Given the description of an element on the screen output the (x, y) to click on. 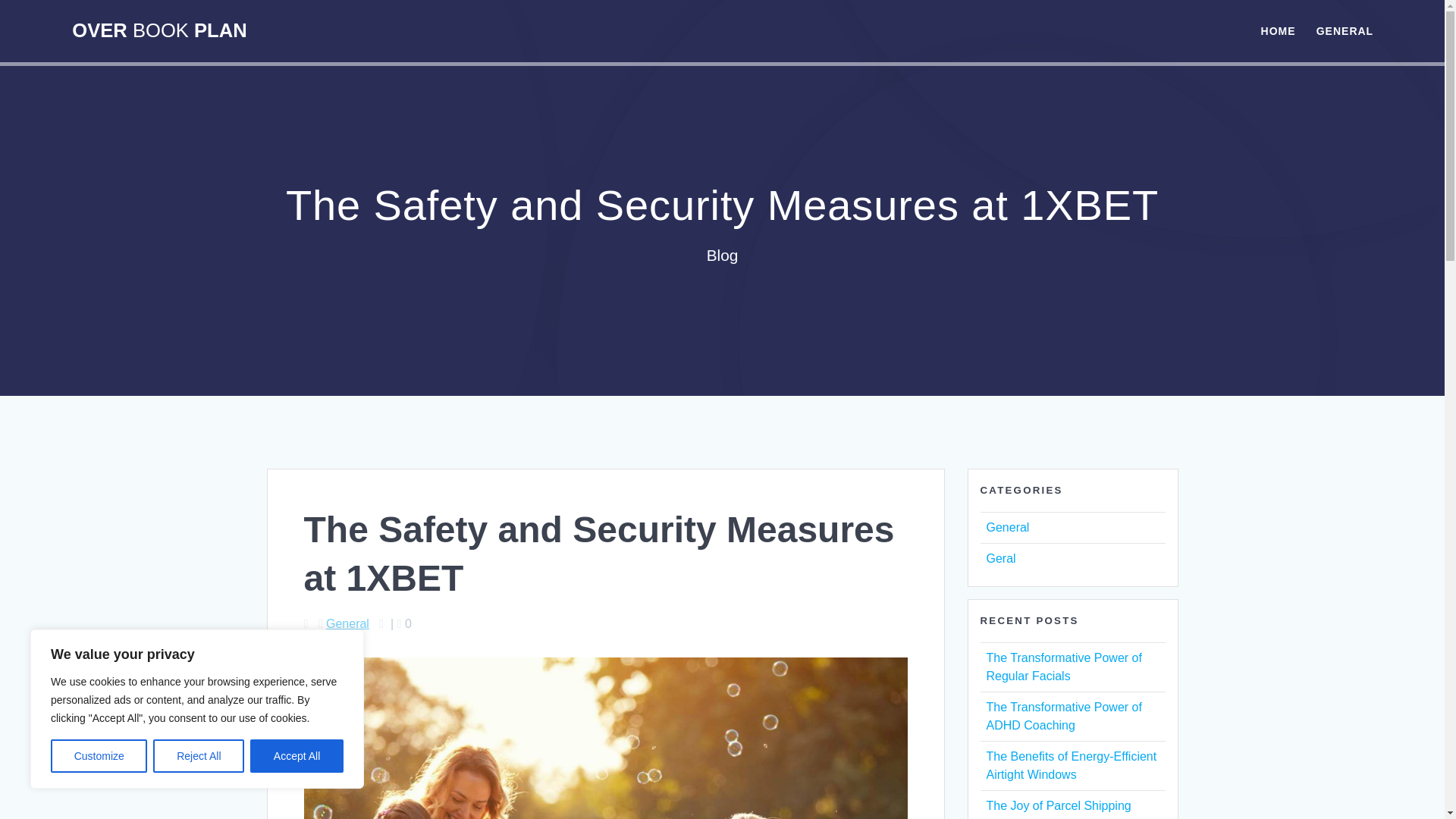
Geral (999, 558)
HOME (1277, 30)
General (347, 623)
The Transformative Power of ADHD Coaching (1063, 716)
OVER BOOK PLAN (158, 30)
The Joy of Parcel Shipping (1058, 805)
Reject All (198, 756)
GENERAL (1344, 30)
General (1007, 526)
Accept All (296, 756)
The Transformative Power of Regular Facials (1063, 666)
The Benefits of Energy-Efficient Airtight Windows (1070, 765)
Customize (98, 756)
